Given the description of an element on the screen output the (x, y) to click on. 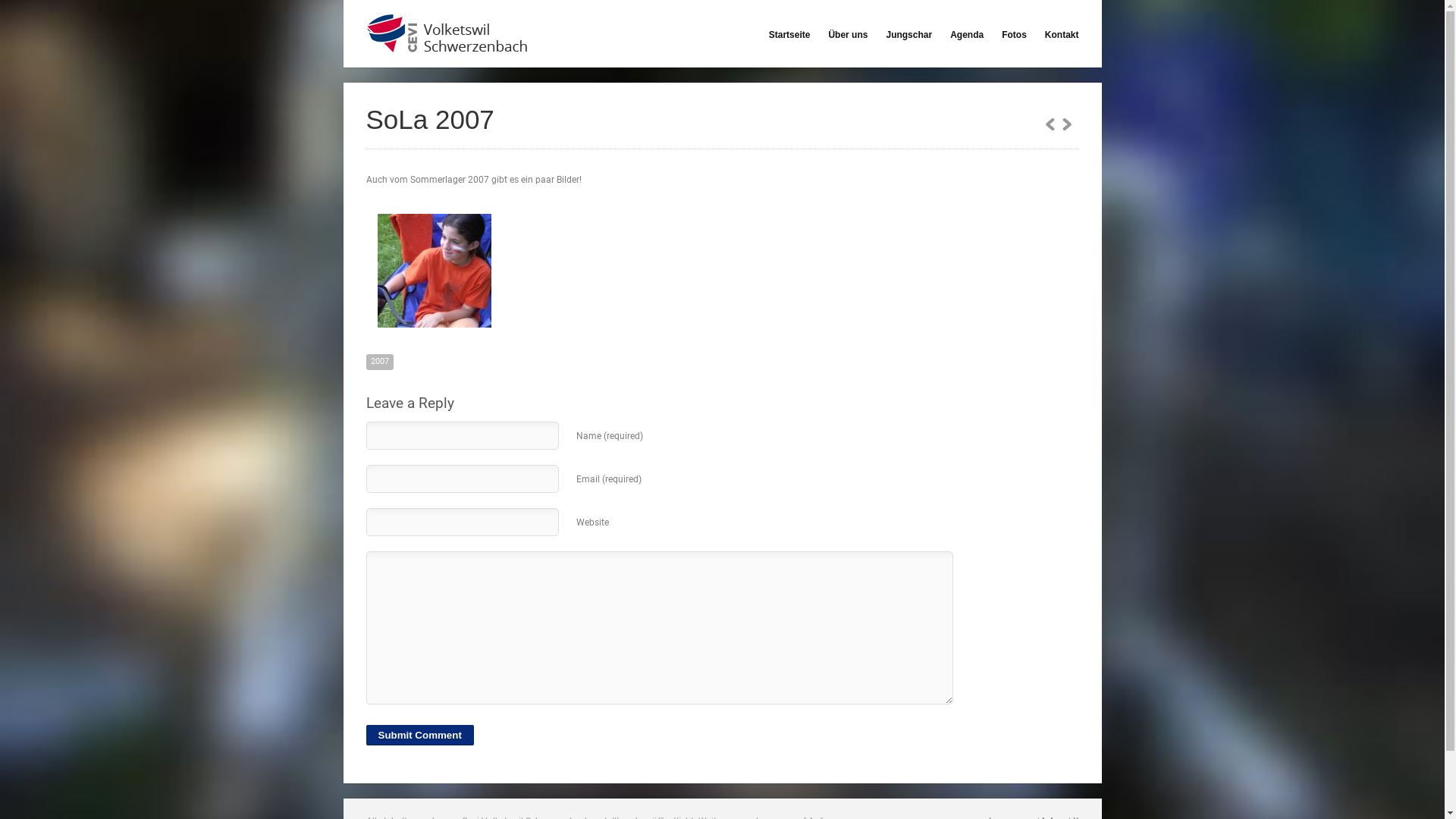
1 Element type: text (1049, 123)
2007 Element type: text (378, 362)
Submit Comment Element type: text (419, 734)
Agenda Element type: text (966, 34)
1 Element type: text (1065, 123)
sola (165) Element type: hover (433, 270)
